Given the description of an element on the screen output the (x, y) to click on. 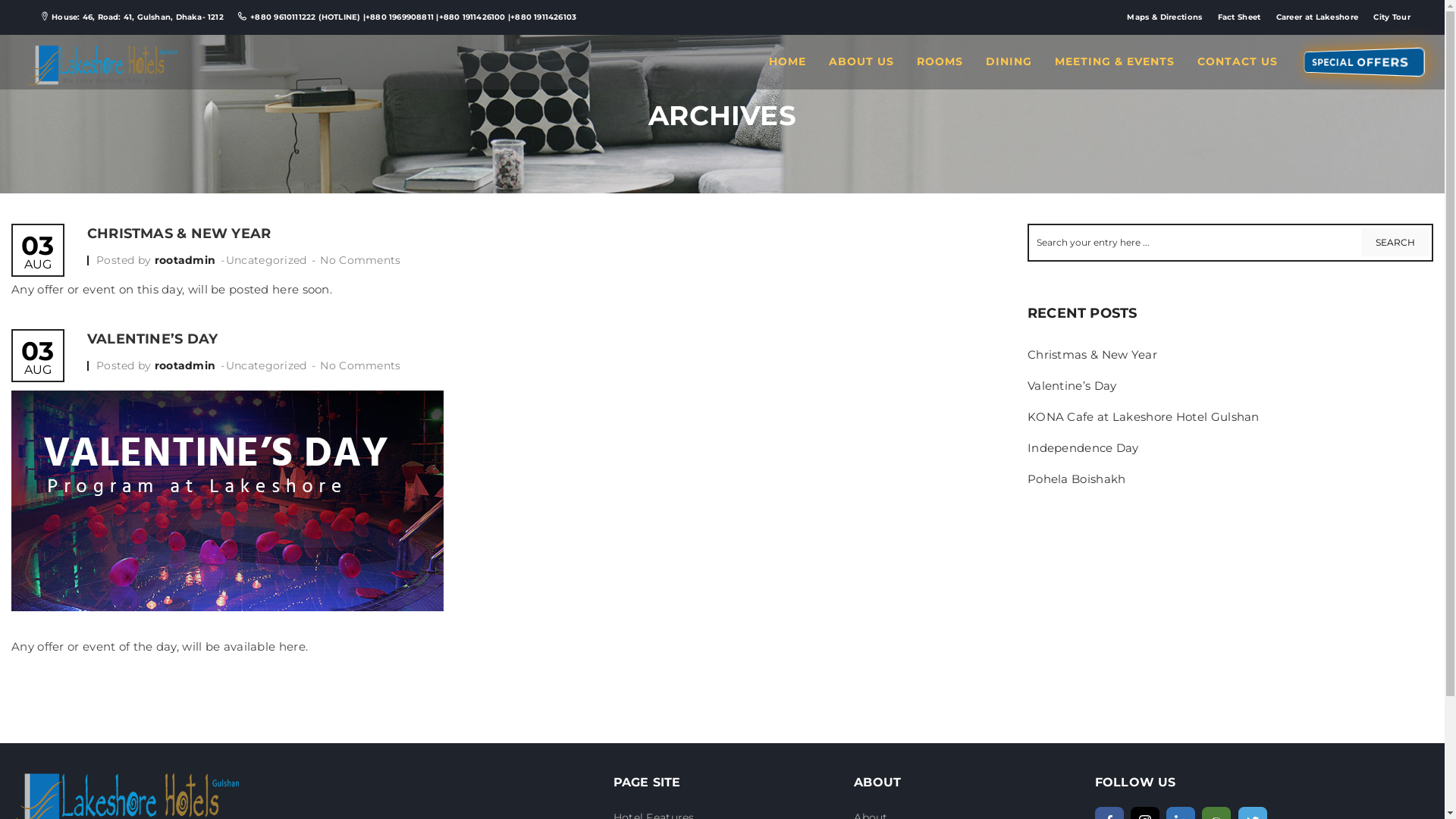
03
AUG Element type: text (37, 251)
rootadmin Element type: text (186, 365)
Uncategorized Element type: text (266, 365)
Uncategorized Element type: text (266, 259)
KONA Cafe at Lakeshore Hotel Gulshan Element type: text (1143, 416)
Maps & Directions Element type: text (1164, 17)
ROOMS Element type: text (939, 61)
Christmas & New Year Element type: text (1092, 354)
CHRISTMAS & NEW YEAR Element type: text (178, 233)
No Comments Element type: text (360, 365)
Independence Day Element type: text (1083, 447)
rootadmin Element type: text (186, 259)
MEETING & EVENTS Element type: text (1114, 61)
HOME Element type: text (787, 61)
Fact Sheet Element type: text (1239, 17)
ABOUT US Element type: text (861, 61)
Search Element type: text (1395, 242)
Career at Lakeshore Element type: text (1317, 17)
Pohela Boishakh Element type: text (1076, 478)
No Comments Element type: text (360, 259)
DINING Element type: text (1008, 61)
City Tour Element type: text (1391, 17)
SPECIAL OFFERS Element type: text (1368, 59)
03
AUG Element type: text (37, 357)
CONTACT US Element type: text (1237, 61)
